Given the description of an element on the screen output the (x, y) to click on. 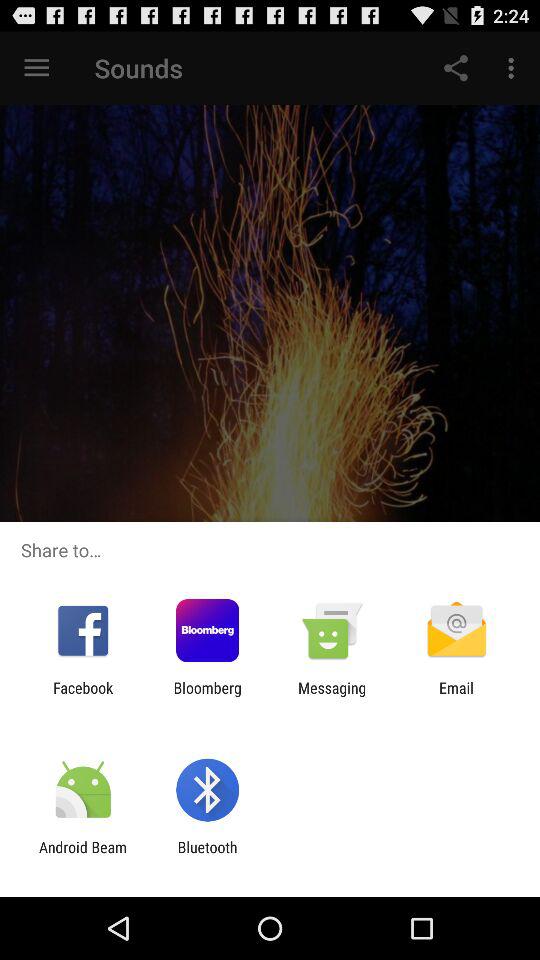
click app at the bottom right corner (456, 696)
